Given the description of an element on the screen output the (x, y) to click on. 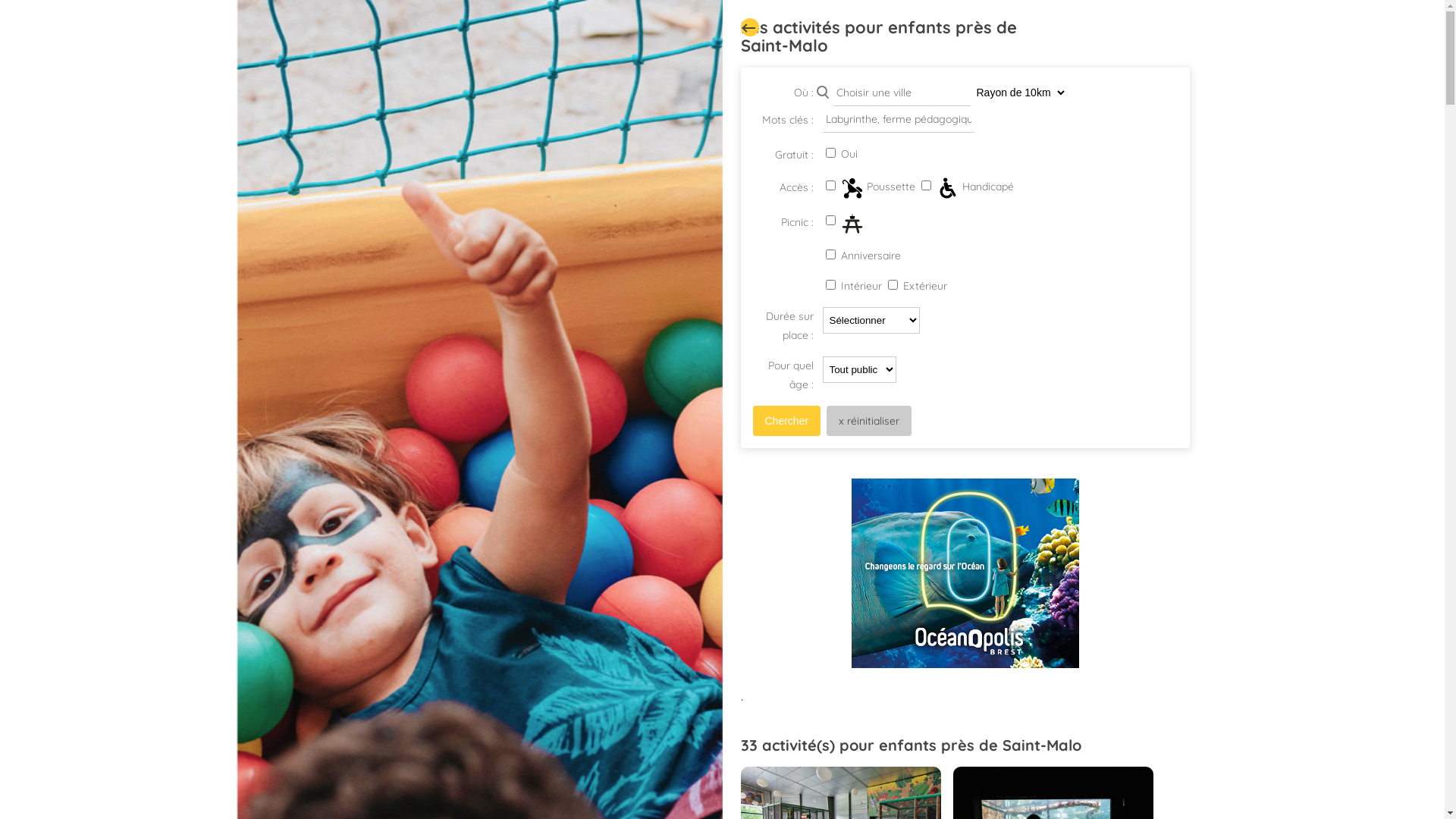
Chercher Element type: text (786, 420)
3rd party ad content Element type: hover (964, 573)
